Given the description of an element on the screen output the (x, y) to click on. 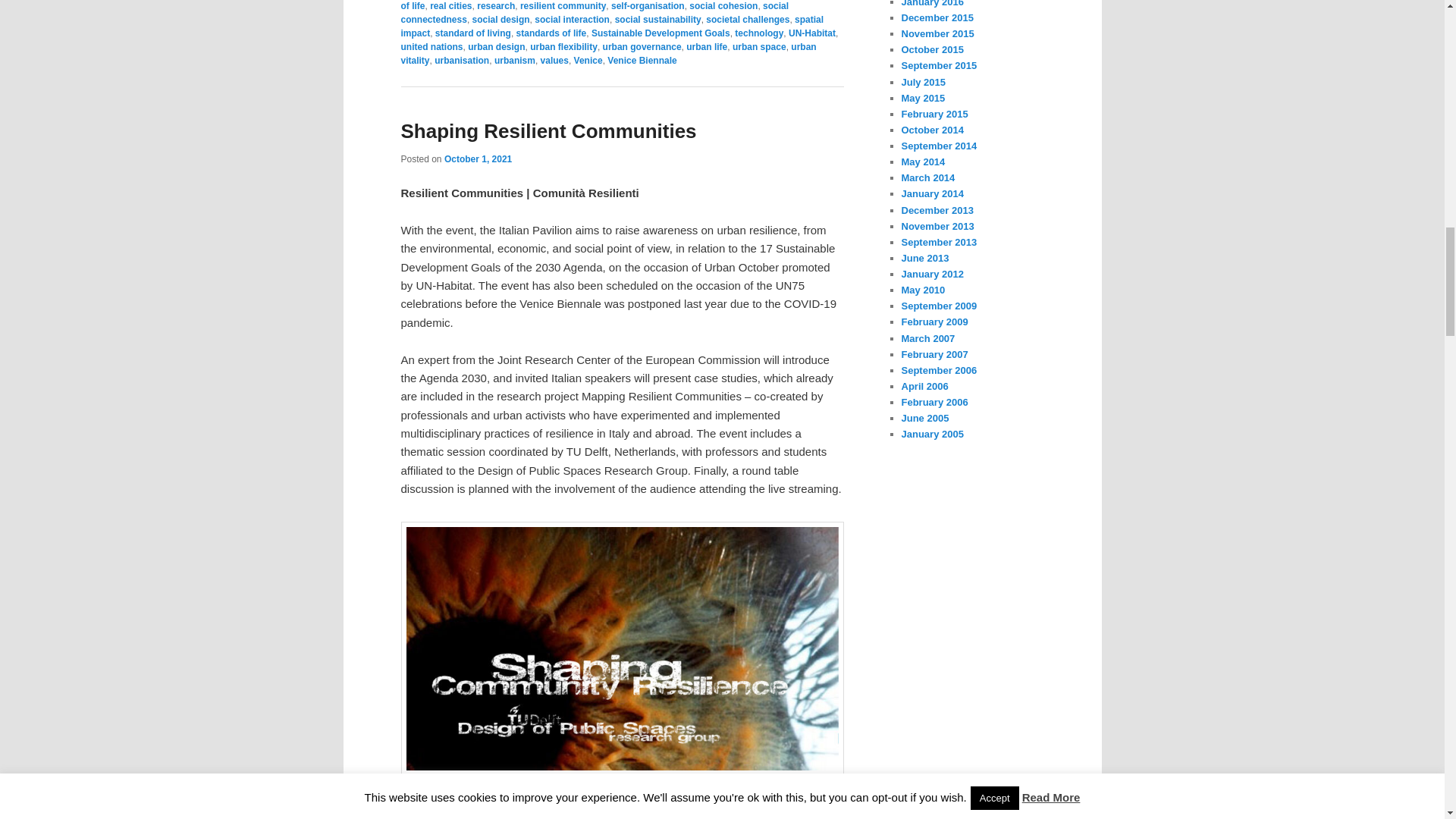
12:15 (478, 158)
